Given the description of an element on the screen output the (x, y) to click on. 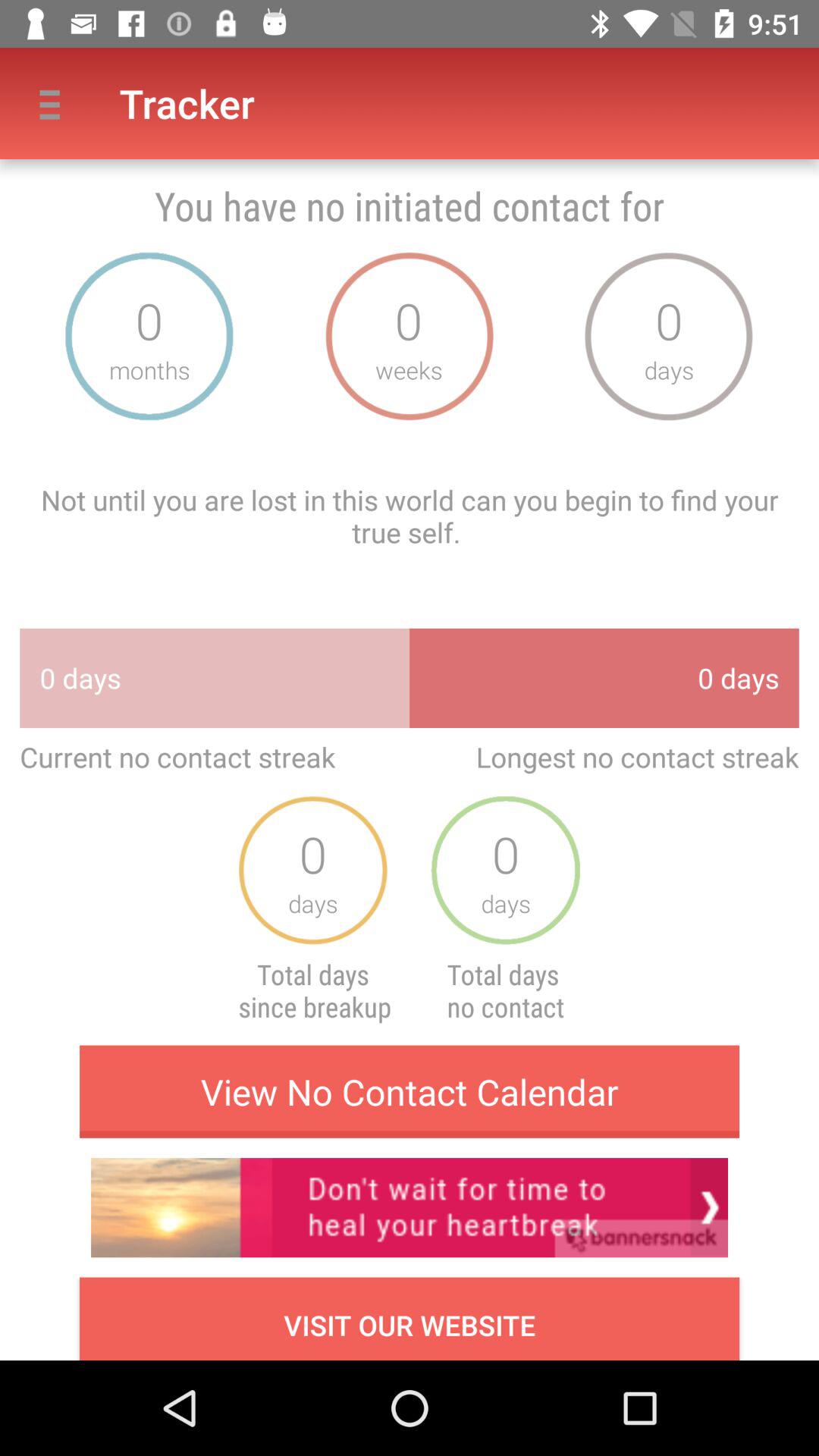
open link (409, 1207)
